Given the description of an element on the screen output the (x, y) to click on. 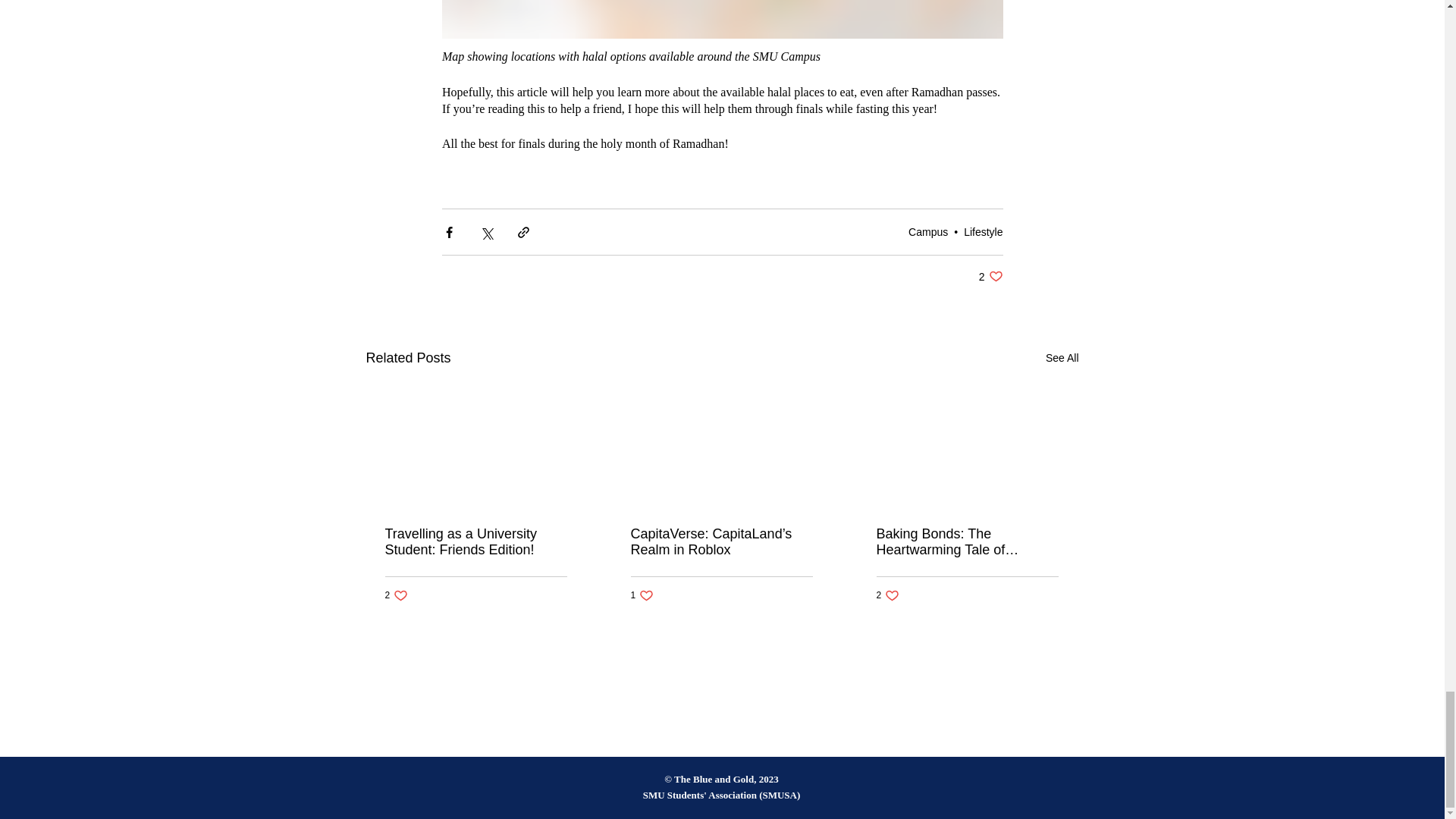
Baking Bonds: The Heartwarming Tale of Secretary Cream (967, 541)
Travelling as a University Student: Friends Edition! (887, 595)
Lifestyle (641, 595)
See All (476, 541)
Campus (990, 276)
